Given the description of an element on the screen output the (x, y) to click on. 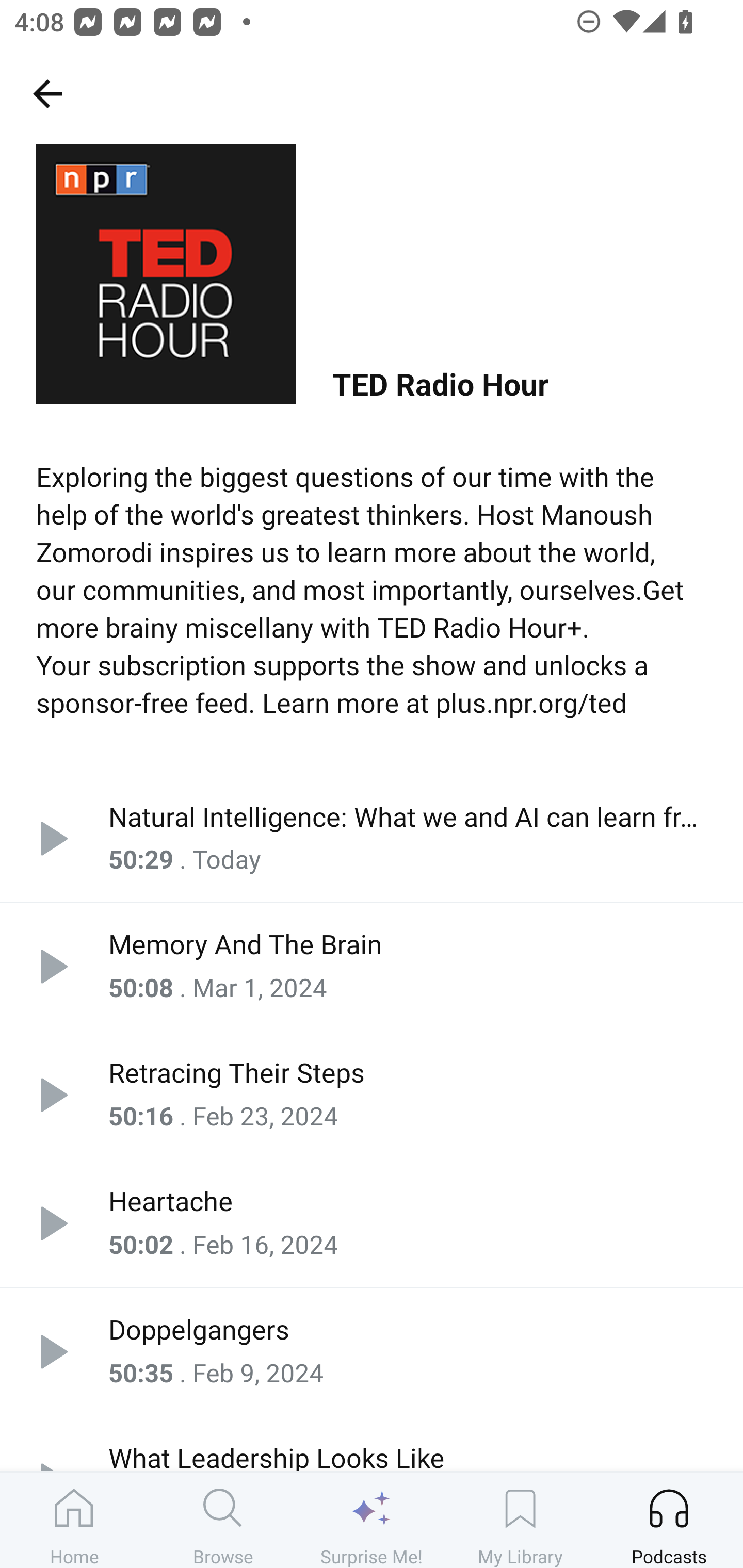
TED Podcasts, back (47, 92)
Memory And The Brain 50:08 . Mar 1, 2024 (371, 966)
Retracing Their Steps 50:16 . Feb 23, 2024 (371, 1094)
Heartache 50:02 . Feb 16, 2024 (371, 1222)
Doppelgangers 50:35 . Feb 9, 2024 (371, 1351)
What Leadership Looks Like (371, 1442)
Home (74, 1520)
Browse (222, 1520)
Surprise Me! (371, 1520)
My Library (519, 1520)
Podcasts (668, 1520)
